Given the description of an element on the screen output the (x, y) to click on. 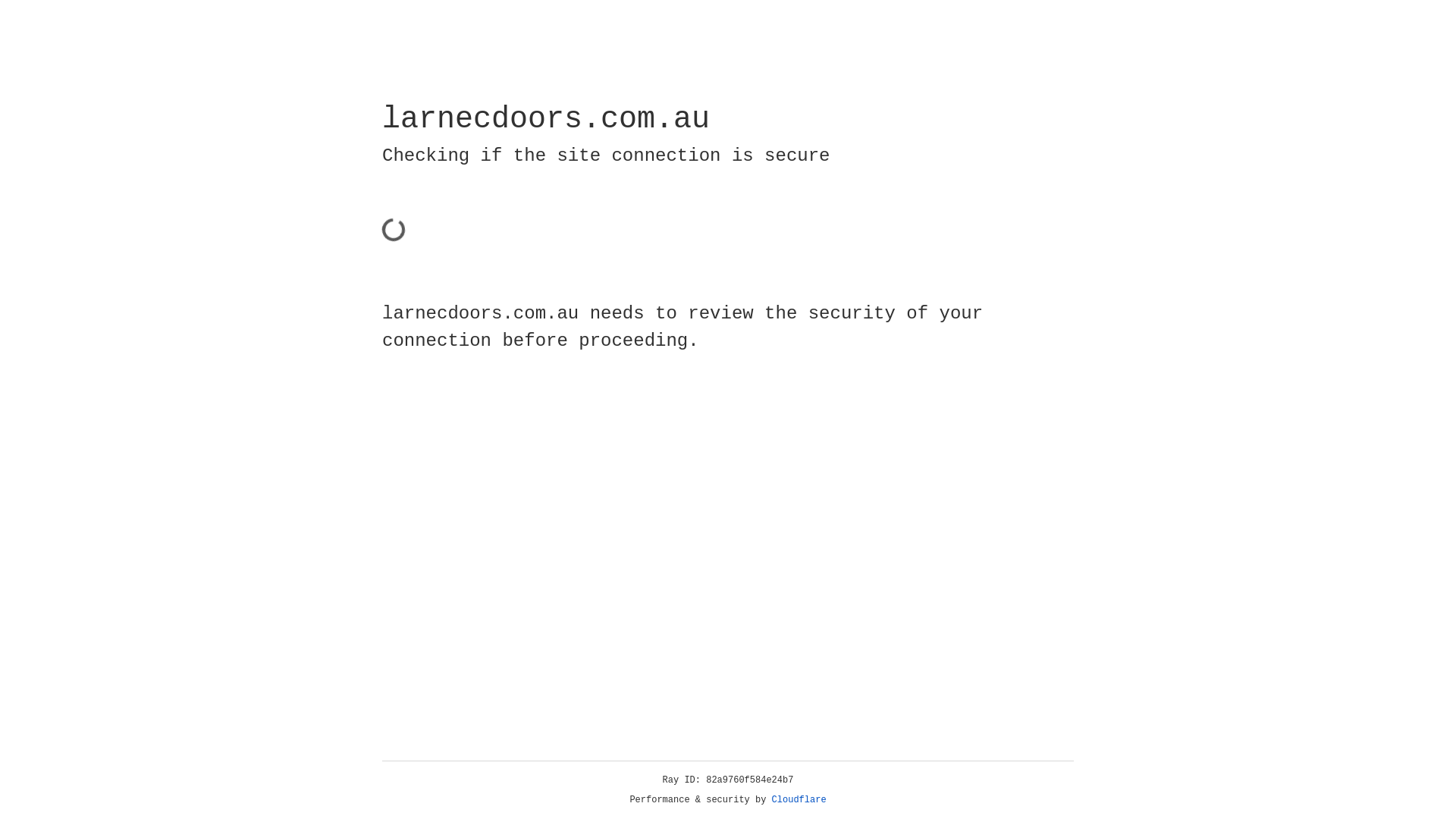
Cloudflare Element type: text (798, 799)
